Given the description of an element on the screen output the (x, y) to click on. 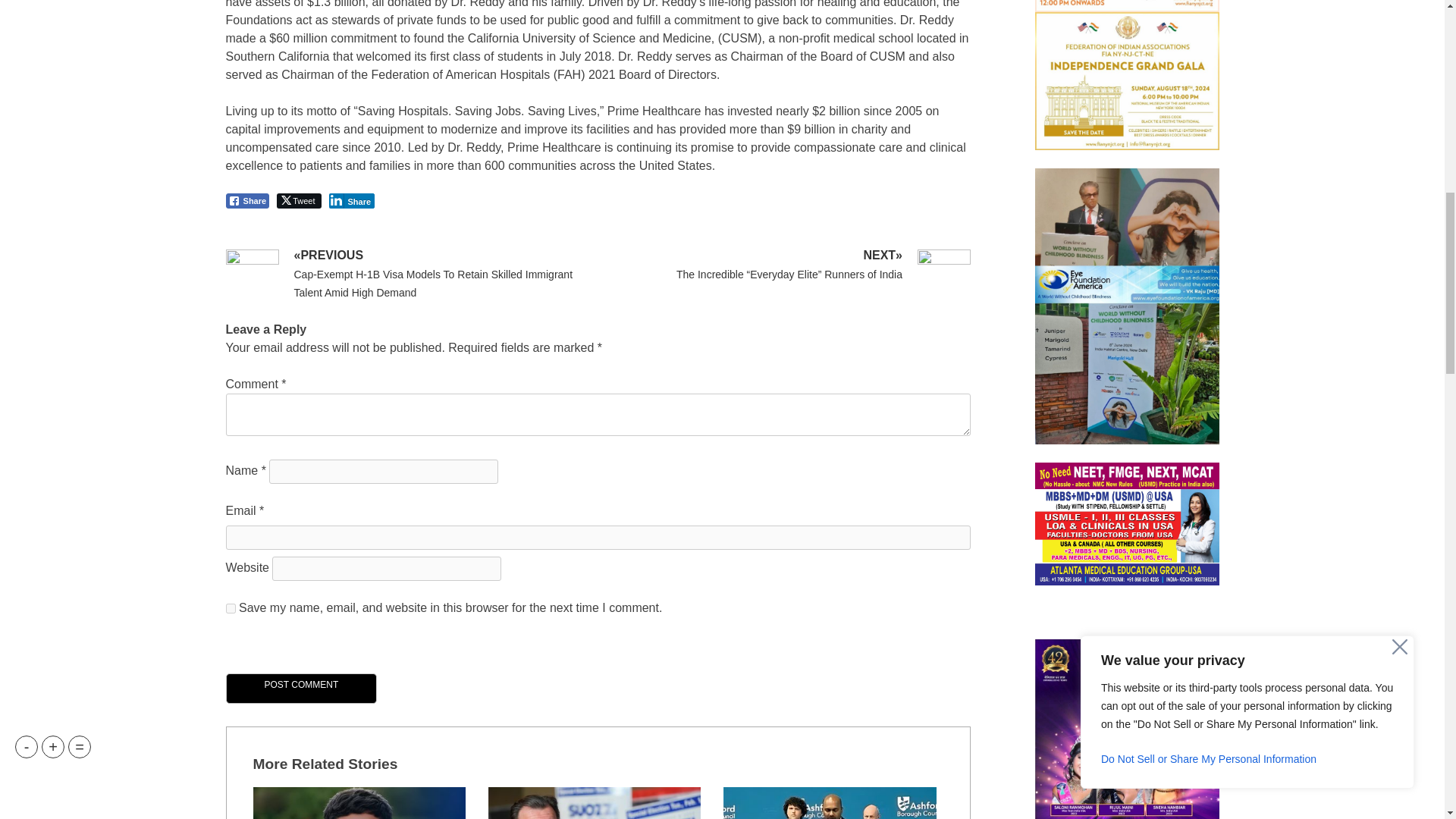
Post Comment (301, 688)
yes (230, 608)
